Given the description of an element on the screen output the (x, y) to click on. 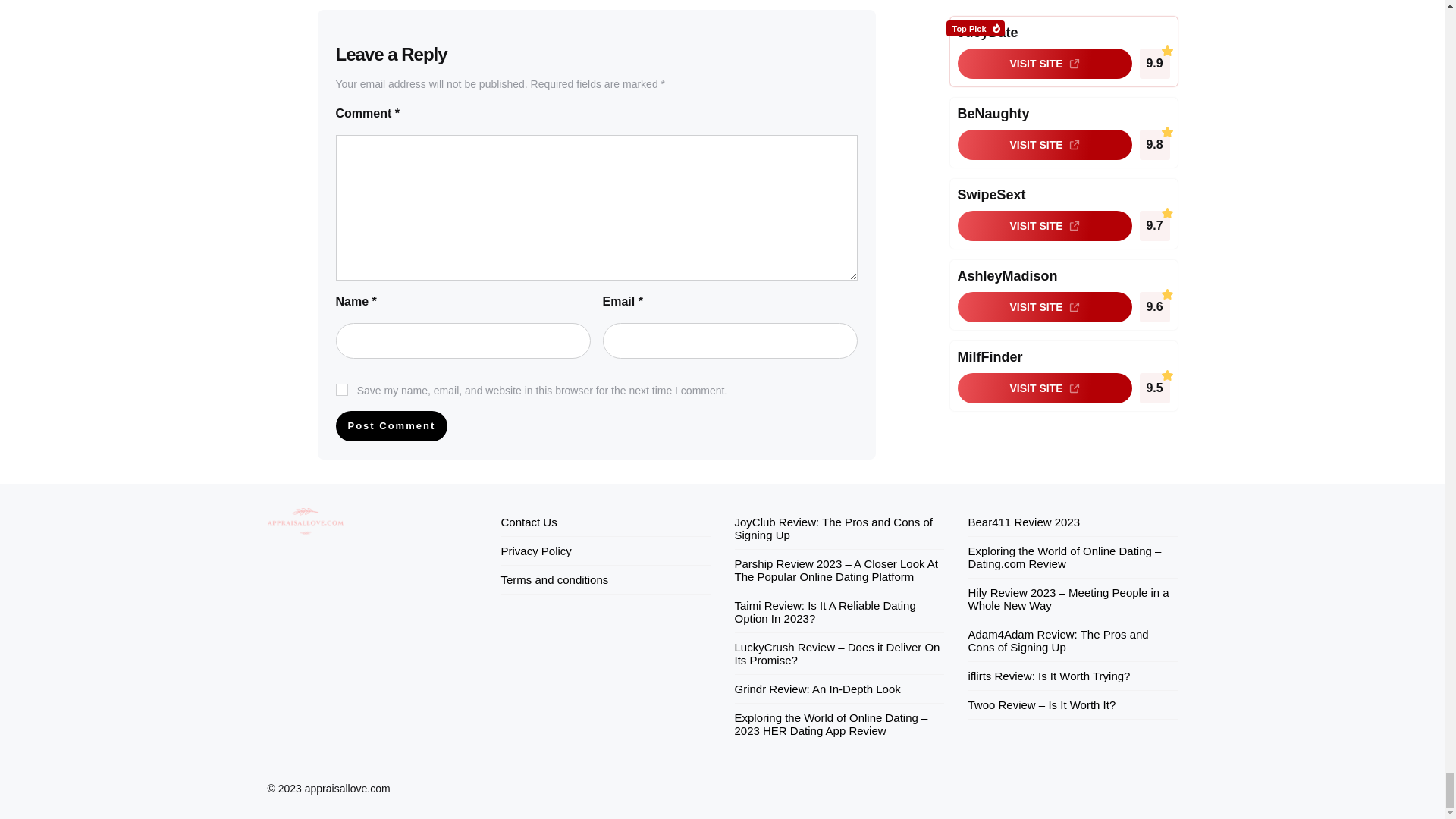
yes (340, 389)
Post Comment (390, 426)
